Given the description of an element on the screen output the (x, y) to click on. 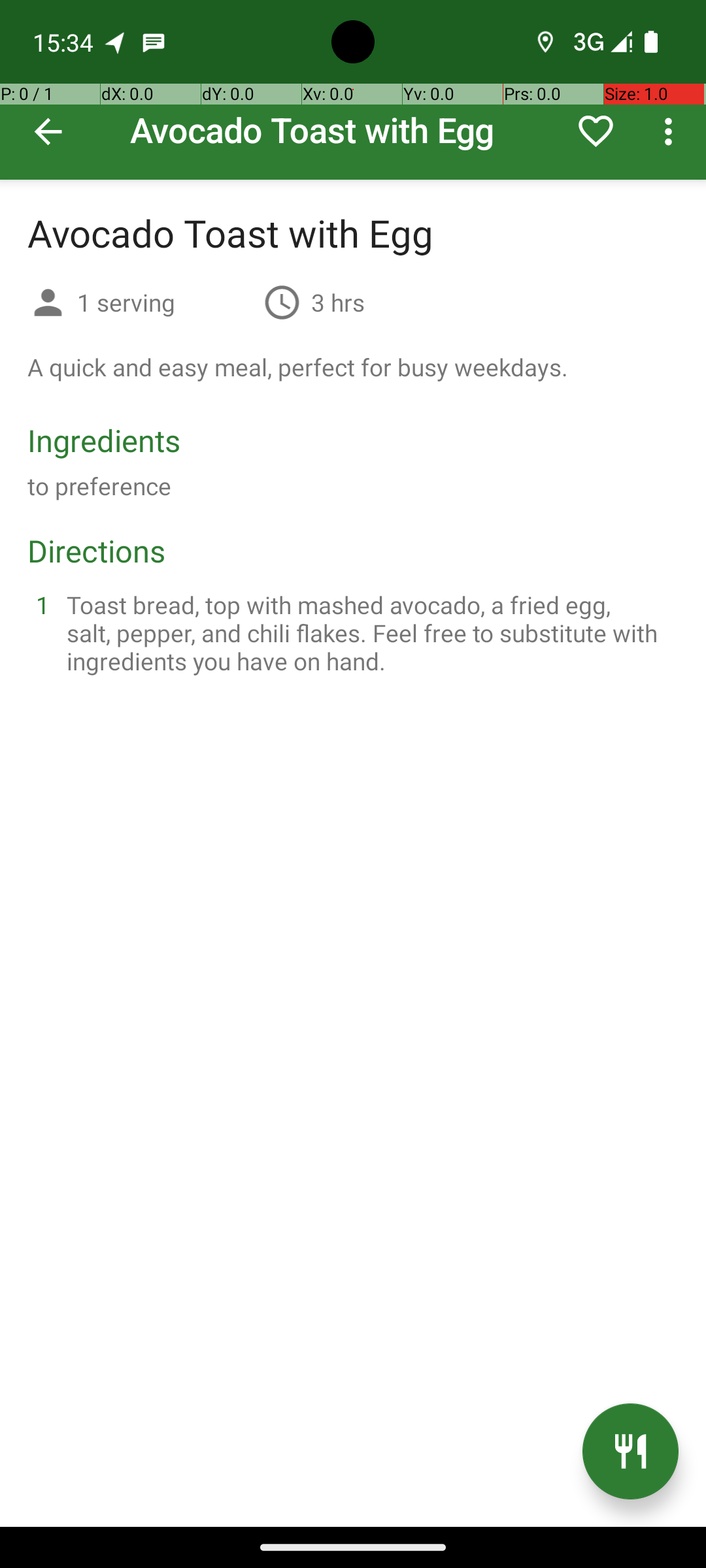
Avocado Toast with Egg Element type: android.widget.FrameLayout (353, 89)
1 serving Element type: android.widget.TextView (164, 301)
3 hrs Element type: android.widget.TextView (337, 301)
to preference Element type: android.widget.TextView (99, 485)
Toast bread, top with mashed avocado, a fried egg, salt, pepper, and chili flakes. Feel free to substitute with ingredients you have on hand. Element type: android.widget.TextView (368, 632)
